Given the description of an element on the screen output the (x, y) to click on. 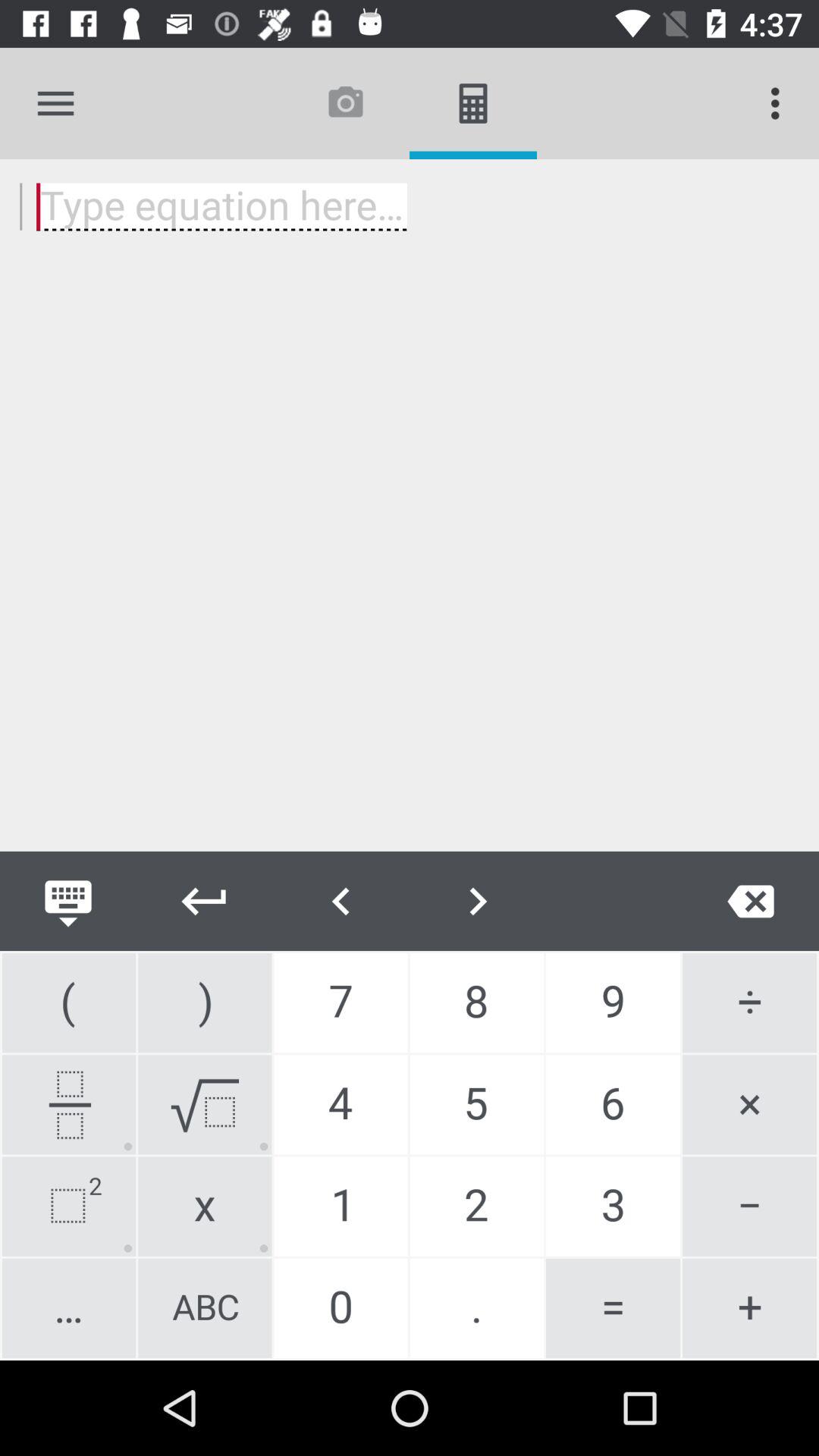
press item at the top right corner (779, 103)
